Given the description of an element on the screen output the (x, y) to click on. 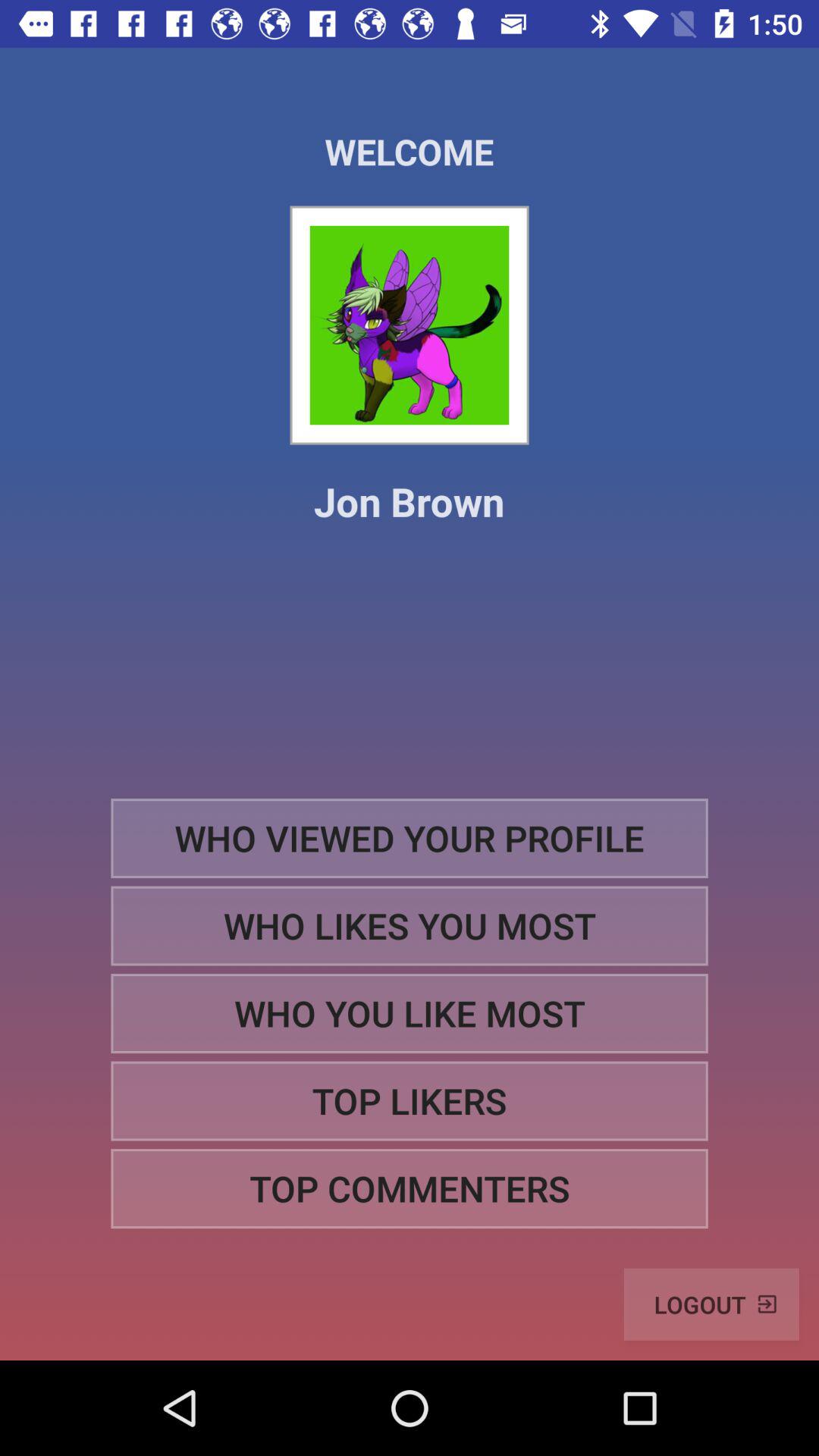
choose top commenters icon (409, 1188)
